Given the description of an element on the screen output the (x, y) to click on. 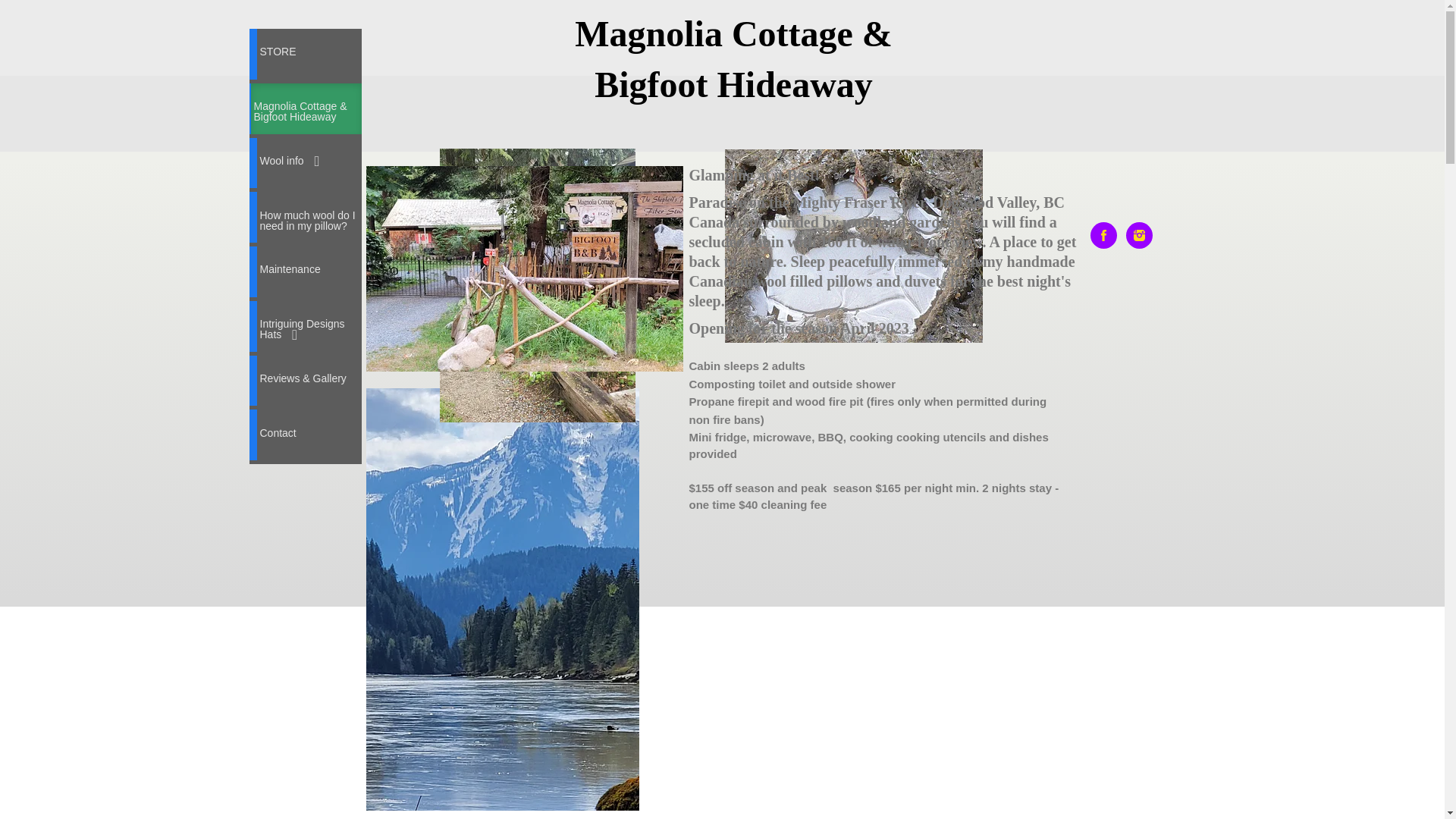
Maintenance (308, 271)
Wool info (308, 163)
Intriguing Designs Hats (308, 326)
Contact (308, 434)
STORE (308, 53)
How much wool do I need in my pillow? (308, 216)
